Given the description of an element on the screen output the (x, y) to click on. 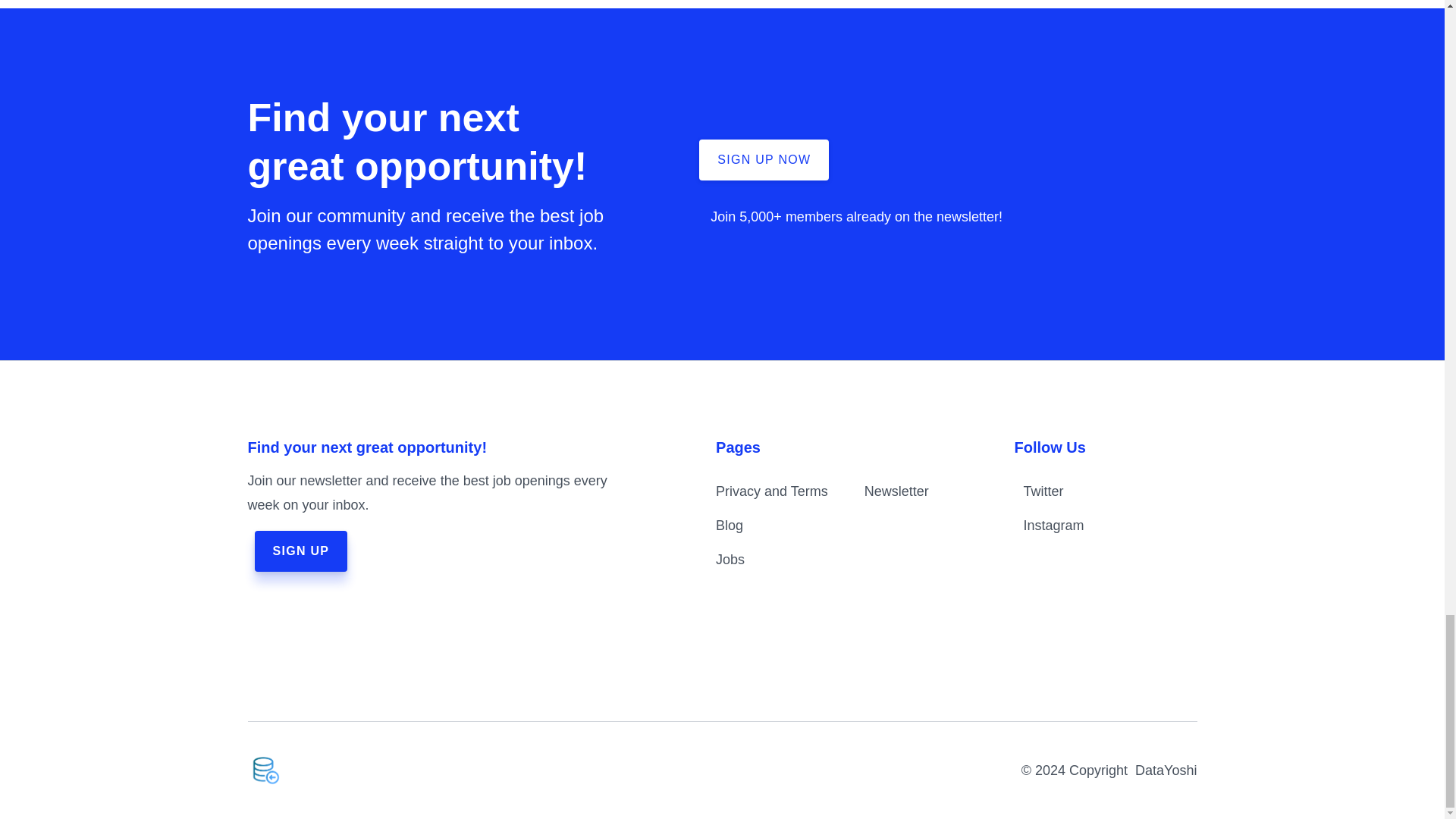
Newsletter (896, 491)
Instagram (1086, 525)
Privacy and Terms (772, 491)
SIGN UP NOW (763, 159)
Twitter (1086, 491)
Jobs (730, 559)
Blog (729, 525)
SIGN UP (300, 550)
